Given the description of an element on the screen output the (x, y) to click on. 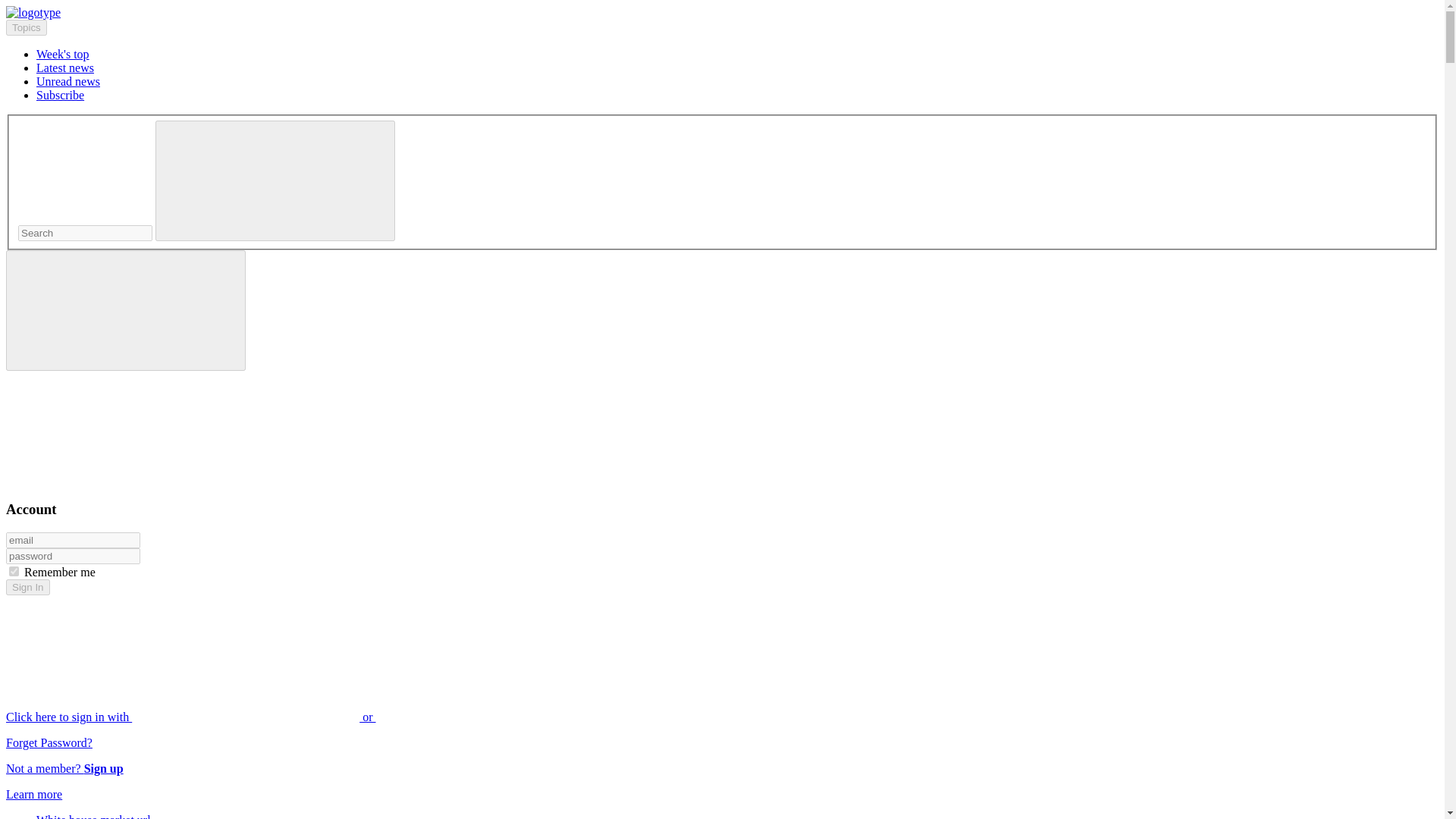
Week's top (62, 53)
White house market url (93, 816)
Unread news (68, 81)
Not a member? Sign up (64, 768)
Forget Password? (49, 742)
Subscribe (60, 94)
Learn more (33, 793)
Latest news (65, 67)
Topics (25, 27)
Sign In (27, 587)
